Given the description of an element on the screen output the (x, y) to click on. 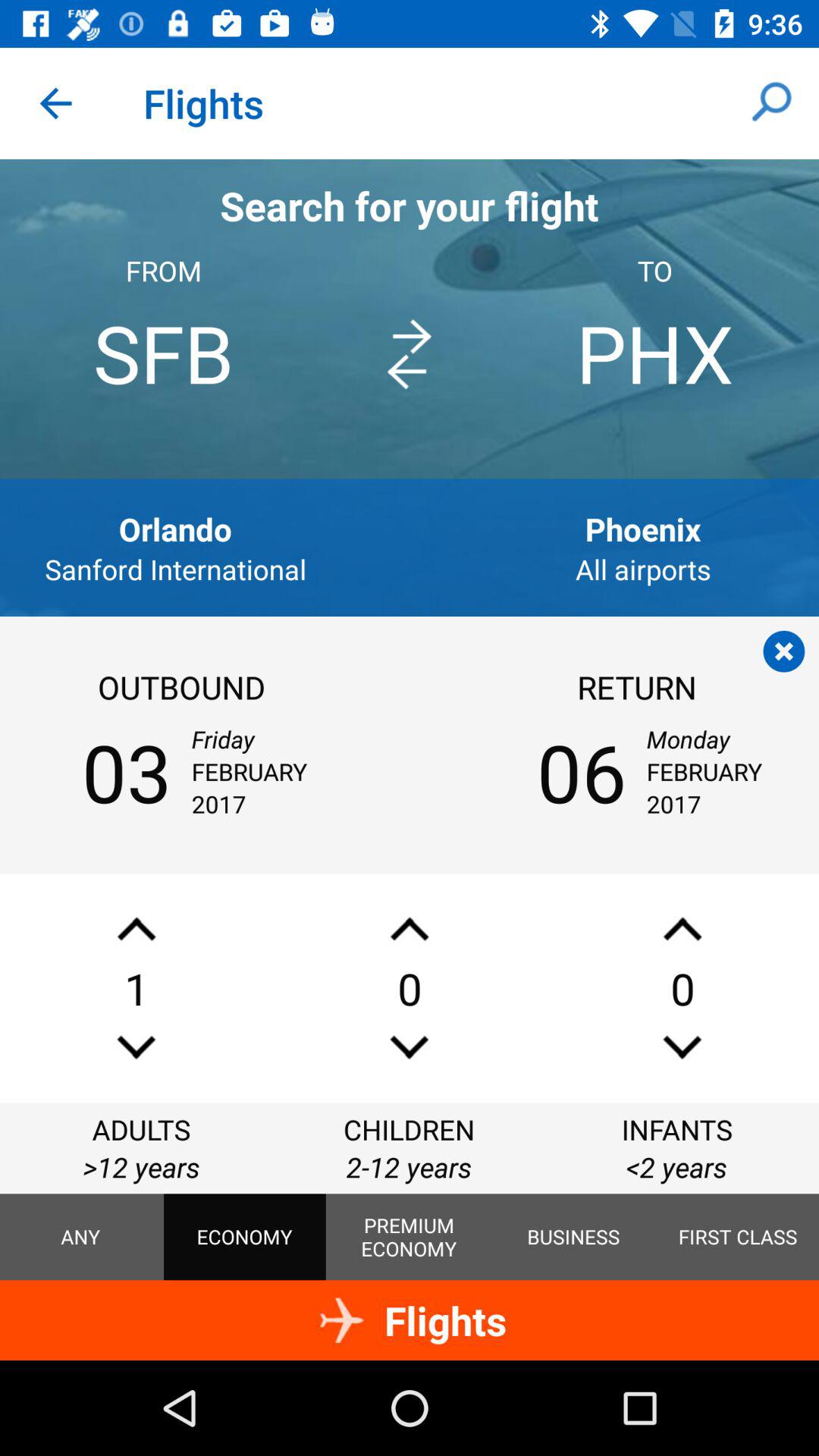
press the icon next to the flights app (55, 103)
